Given the description of an element on the screen output the (x, y) to click on. 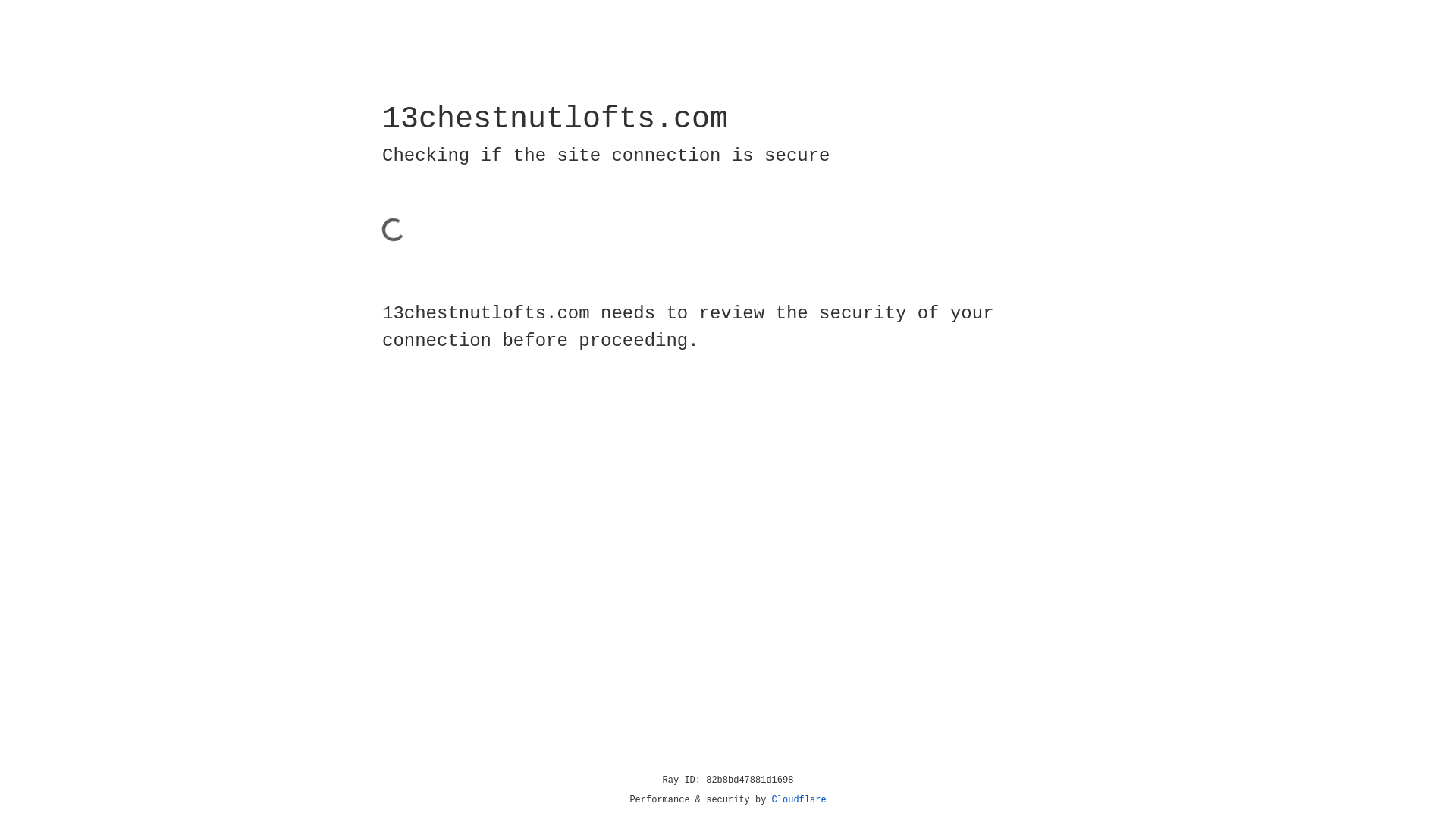
Cloudflare Element type: text (798, 799)
